Given the description of an element on the screen output the (x, y) to click on. 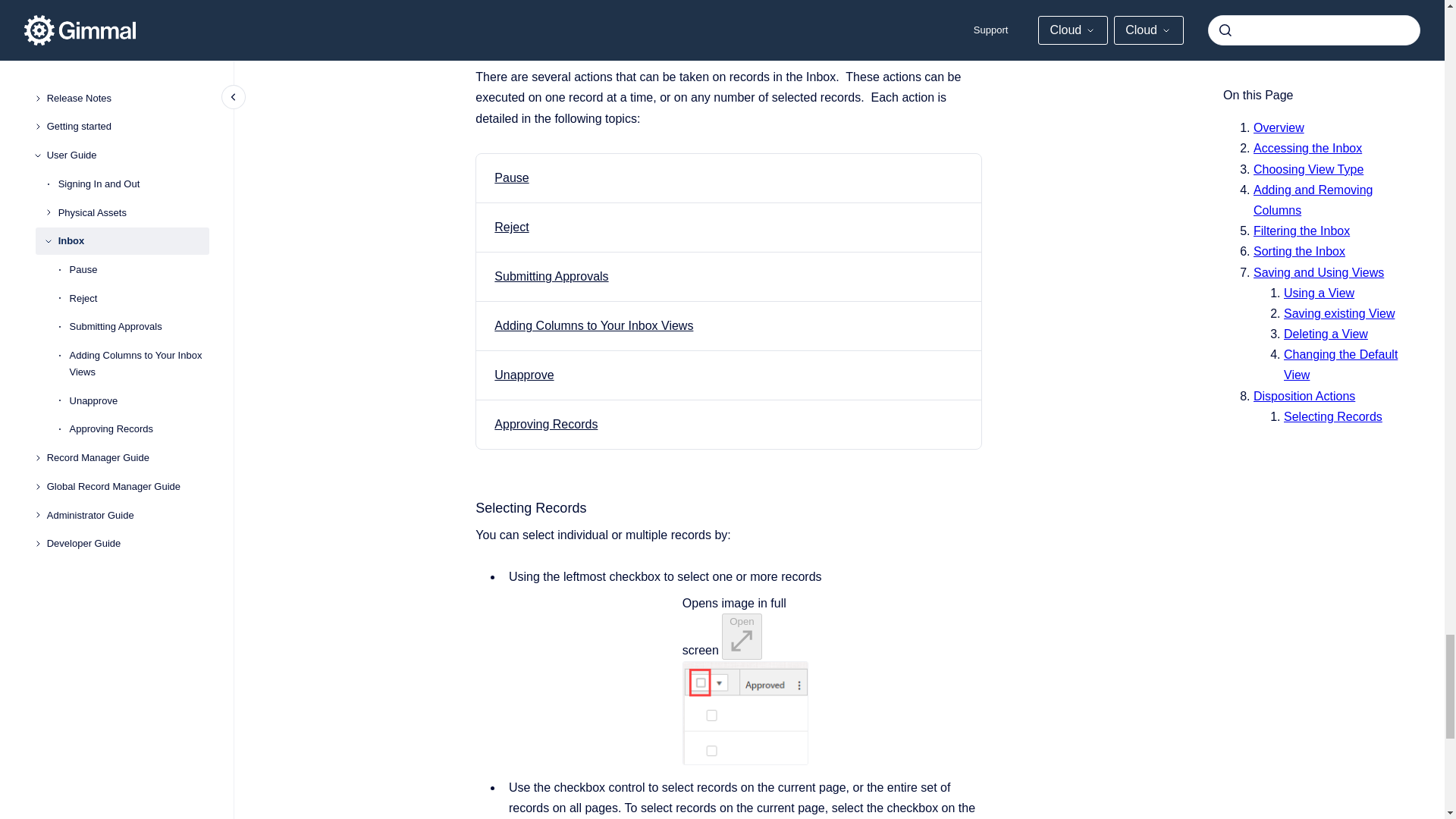
Reject (511, 226)
Pause (511, 177)
Adding Columns to Your Inbox Views (594, 325)
Submitting Approvals (551, 276)
Approving Records (545, 423)
Unapprove (524, 374)
